Given the description of an element on the screen output the (x, y) to click on. 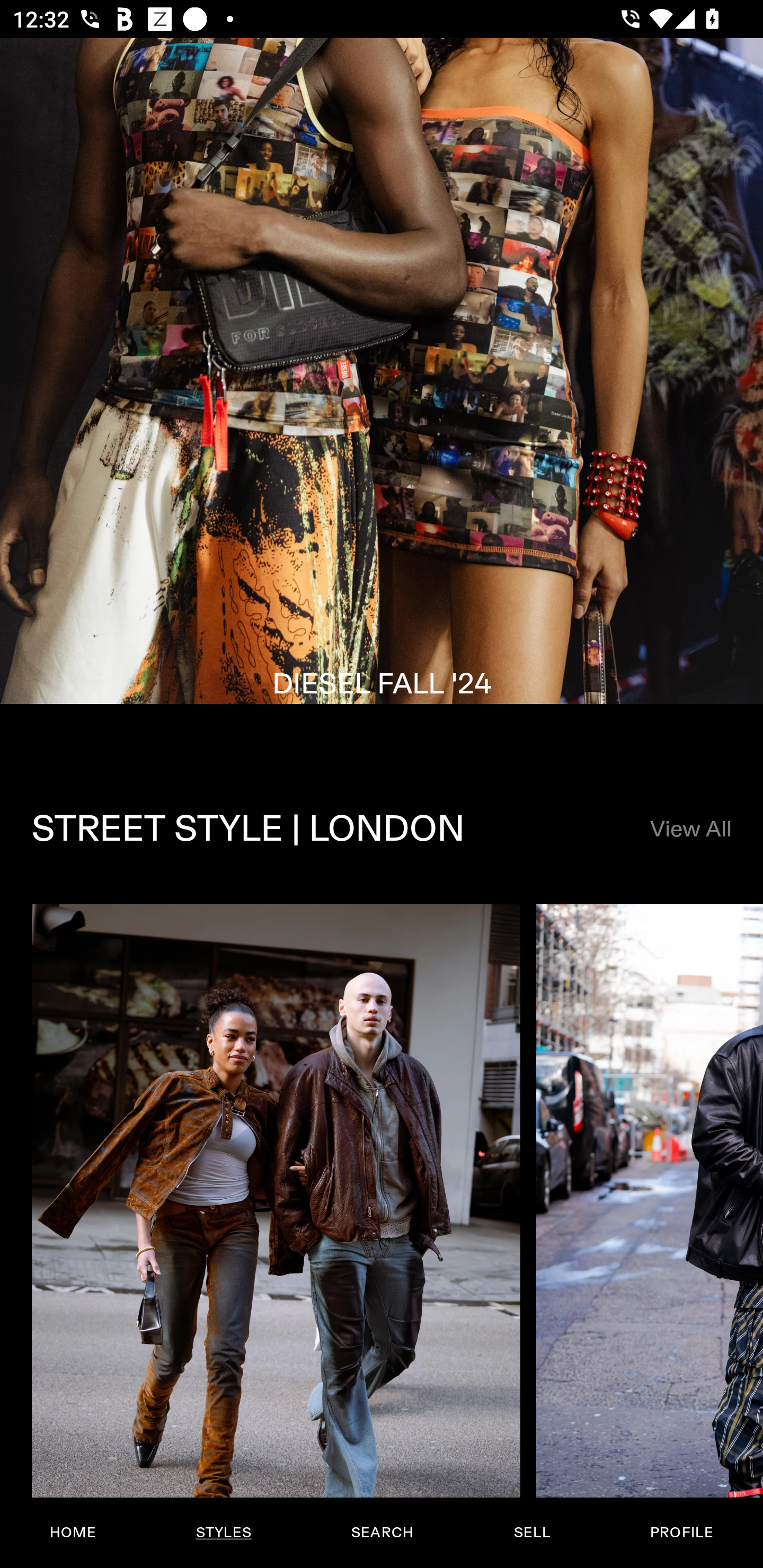
FIRST LOOKS DIESEL FALL '24 (381, 395)
View All (690, 830)
HOME (72, 1532)
STYLES (222, 1532)
SEARCH (381, 1532)
SELL (531, 1532)
PROFILE (681, 1532)
